Given the description of an element on the screen output the (x, y) to click on. 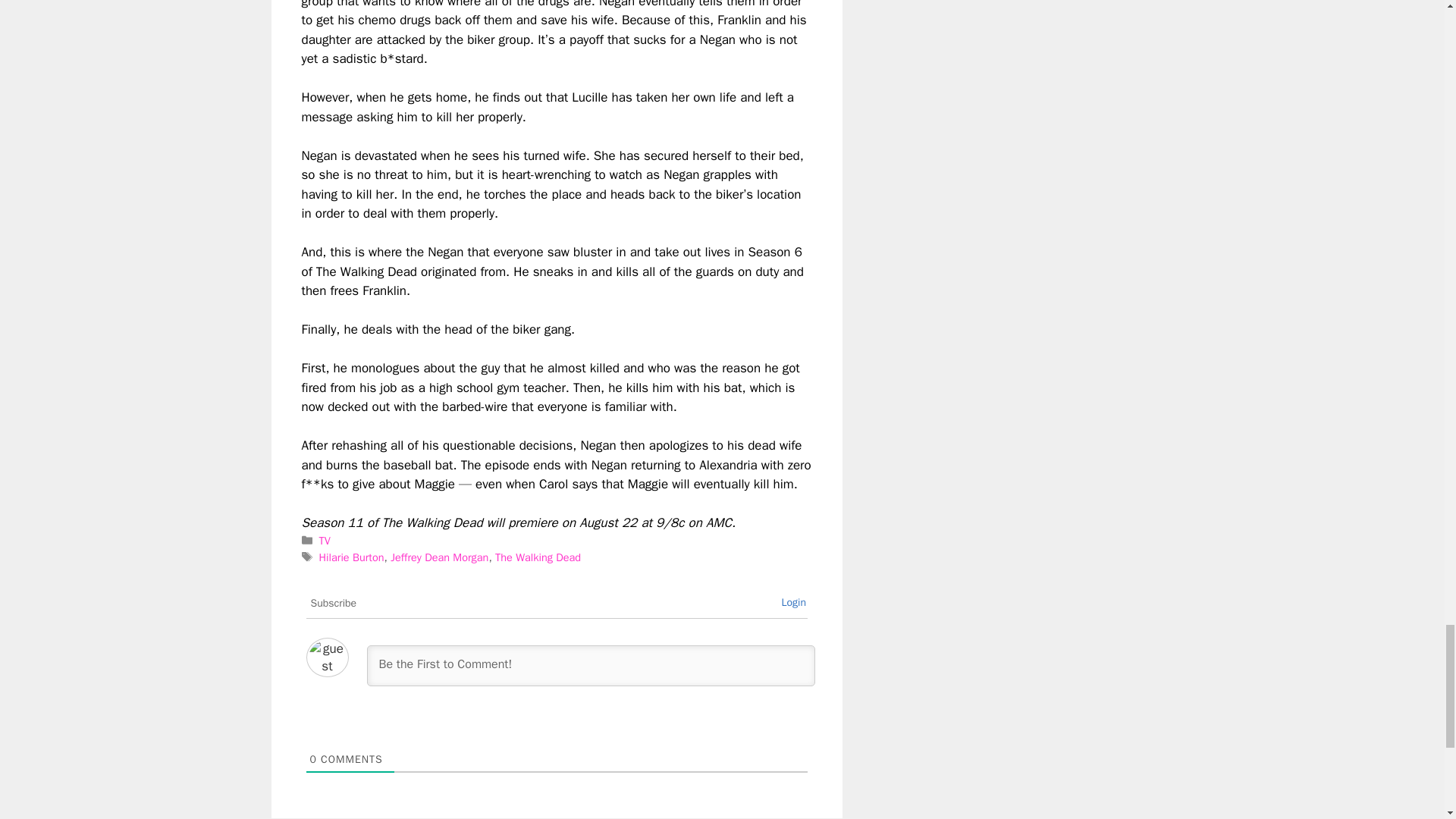
Jeffrey Dean Morgan (438, 557)
Login (793, 602)
The Walking Dead (537, 557)
Hilarie Burton (351, 557)
